Given the description of an element on the screen output the (x, y) to click on. 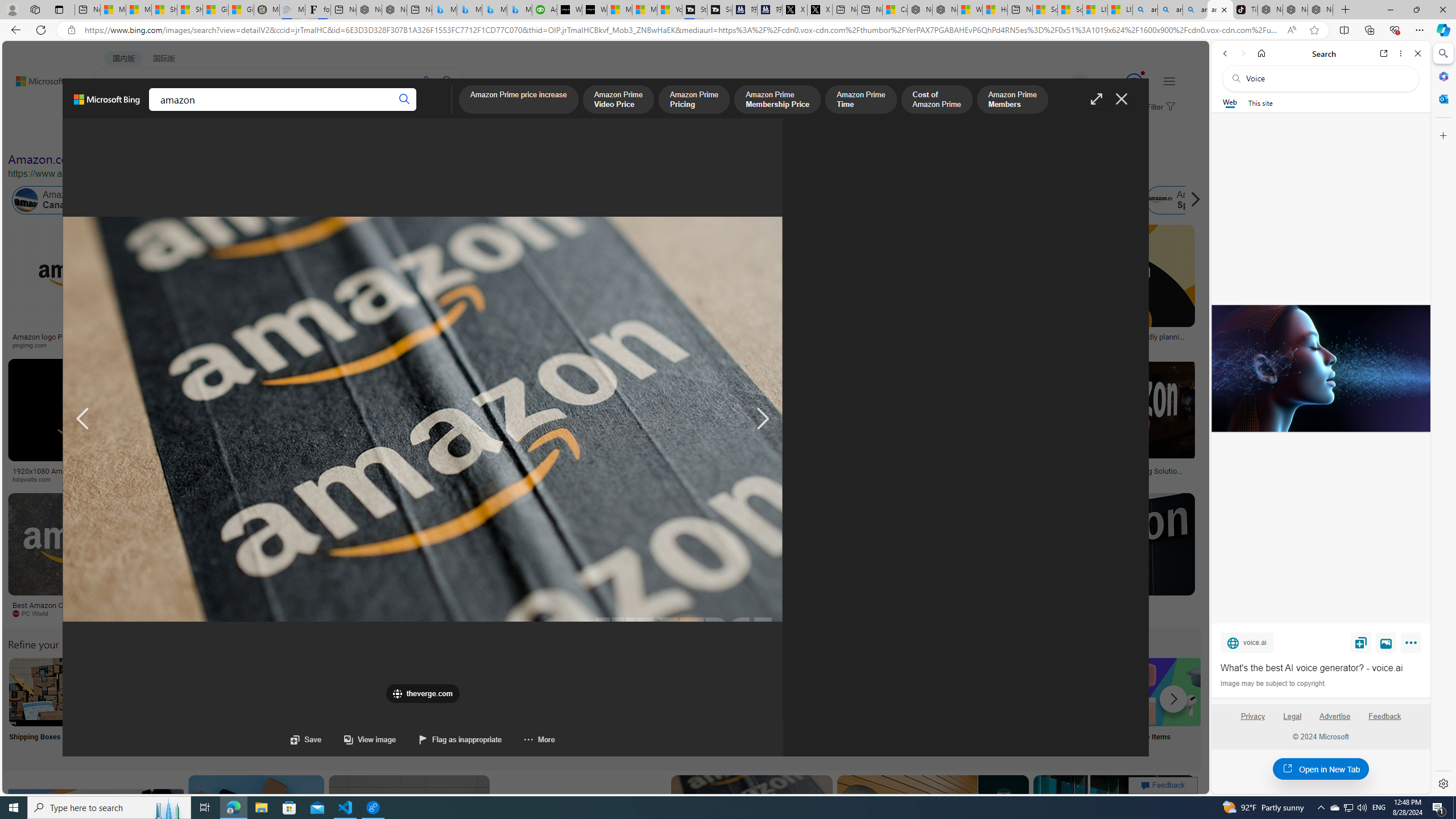
Amazon Canada Online (25, 200)
Microsoft Bing Travel - Shangri-La Hotel Bangkok (519, 9)
Amazon India (508, 199)
Amazon Prime Membership (801, 199)
Legal (1292, 720)
Amazon Prime Members (1012, 100)
Two Reasons Why Retailers Need to Leverage Amazon (224, 340)
View image (1385, 642)
aiophotoz.com (378, 613)
More options (1401, 53)
Visa Card Login (1093, 706)
